Given the description of an element on the screen output the (x, y) to click on. 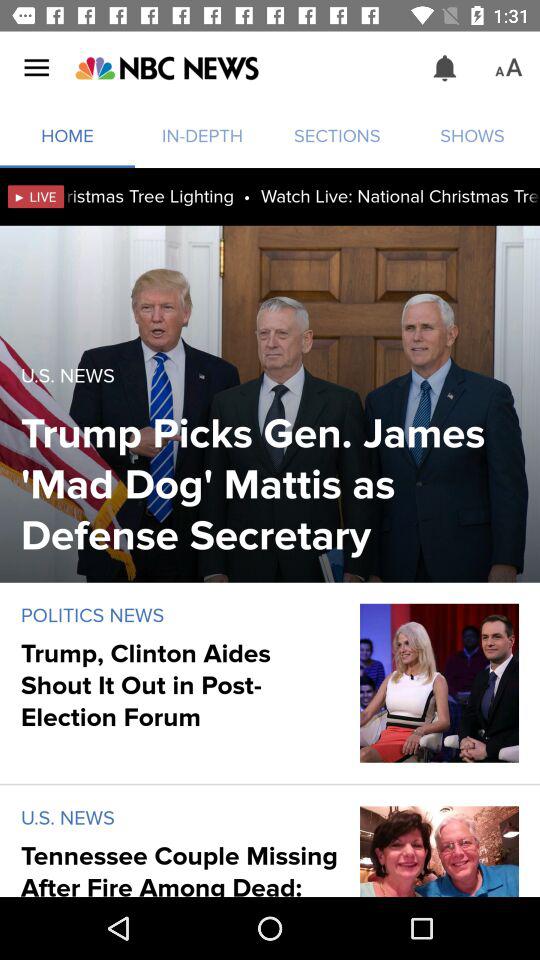
launch item above home (36, 68)
